Given the description of an element on the screen output the (x, y) to click on. 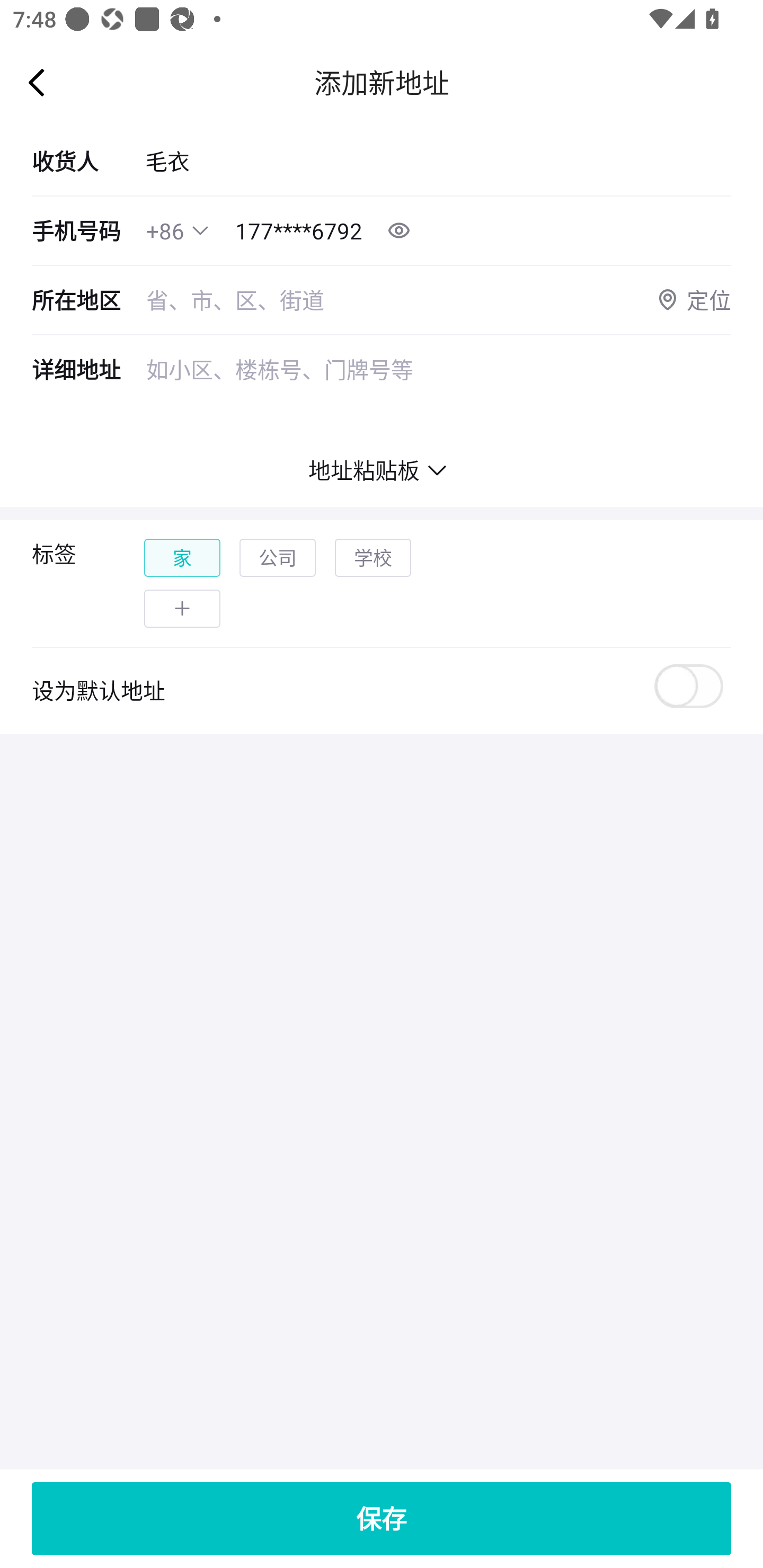
Navigate up (36, 82)
毛衣 (437, 160)
+86 (165, 231)
177****6792 (298, 231)
 (199, 230)
所在地区 省、市、区、街道 定位 (381, 299)
定位 (692, 300)
如小区、楼栋号、门牌号等 (438, 395)
地址粘贴板 (381, 470)
家 (182, 558)
公司 (277, 558)
学校 (372, 558)
 (182, 608)
保存 (381, 1518)
